Given the description of an element on the screen output the (x, y) to click on. 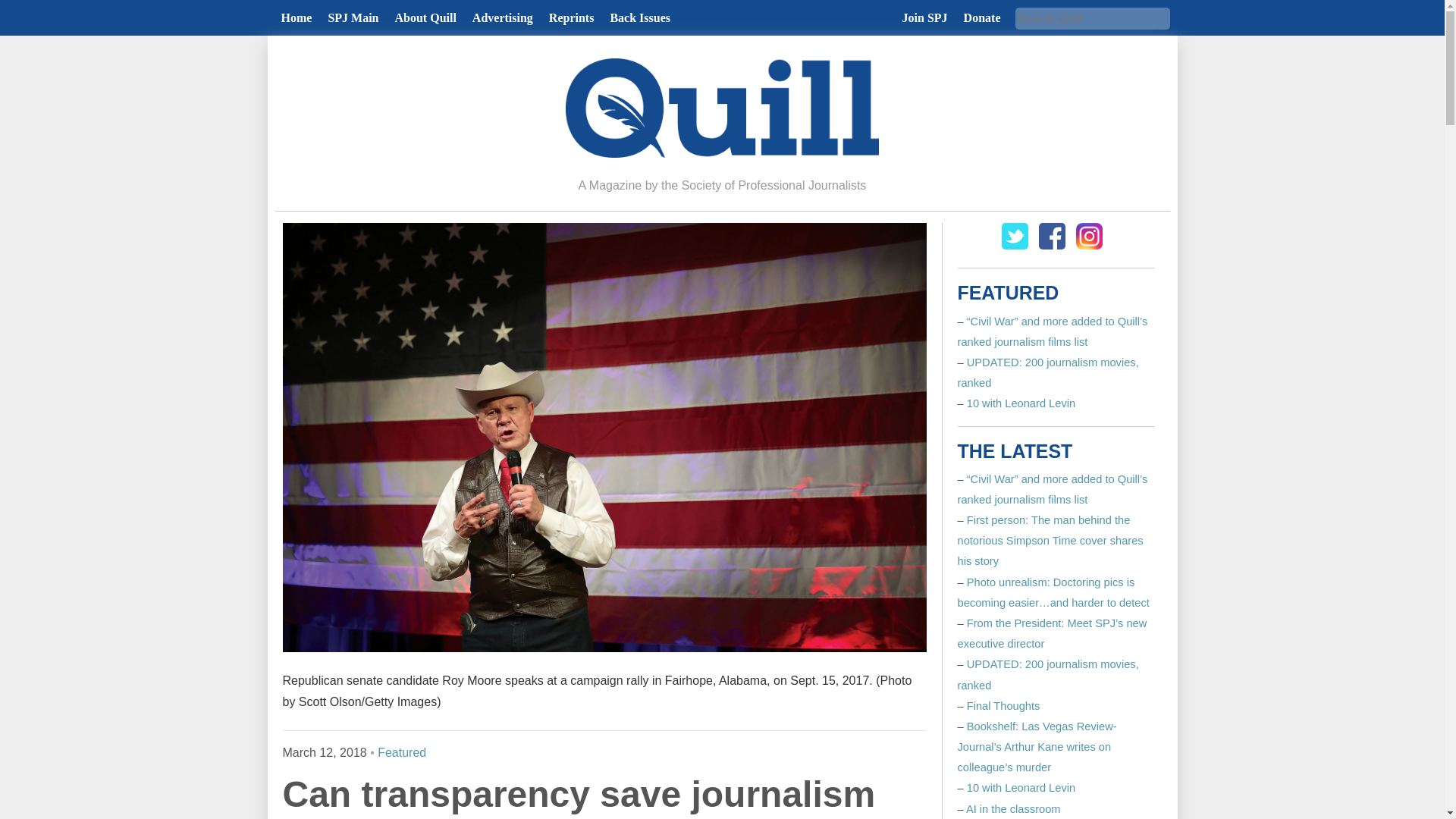
2018-03-12T14:24:55-0400 (324, 752)
SPJ Main (352, 17)
10 with Leonard Levin (1020, 403)
Featured (401, 752)
Reprints (571, 17)
UPDATED: 200 journalism movies, ranked (1047, 372)
Permanent link to 10 with Leonard Levin (1020, 403)
Final Thoughts (1003, 705)
Join SPJ (924, 17)
Advertising (501, 17)
Donate (982, 17)
AI in the classroom (1013, 808)
UPDATED: 200 journalism movies, ranked (1047, 674)
Home (296, 17)
